Given the description of an element on the screen output the (x, y) to click on. 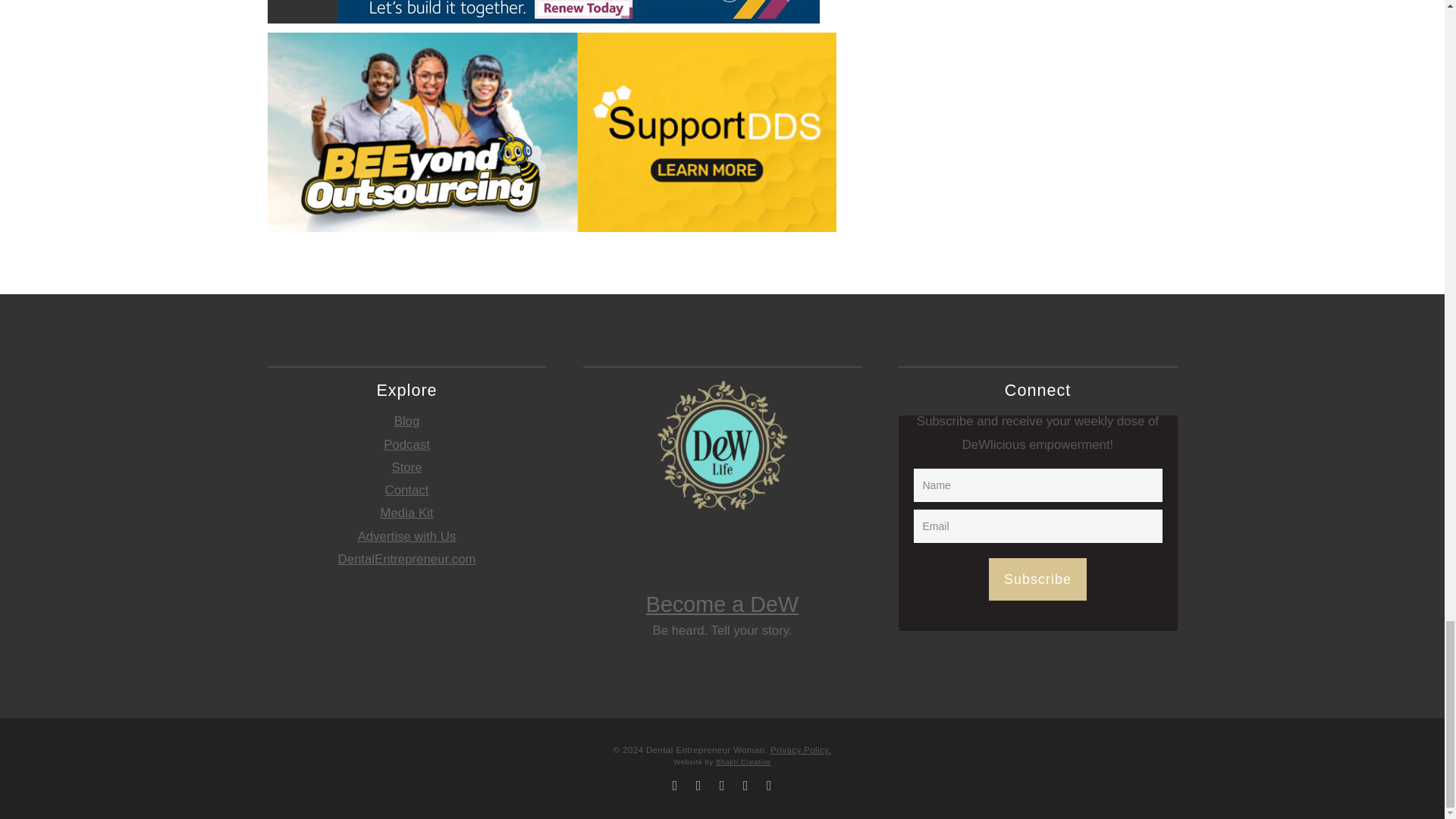
Contact (407, 490)
Podcast (406, 444)
Store (406, 467)
Blog (407, 421)
advertisement (542, 11)
